Given the description of an element on the screen output the (x, y) to click on. 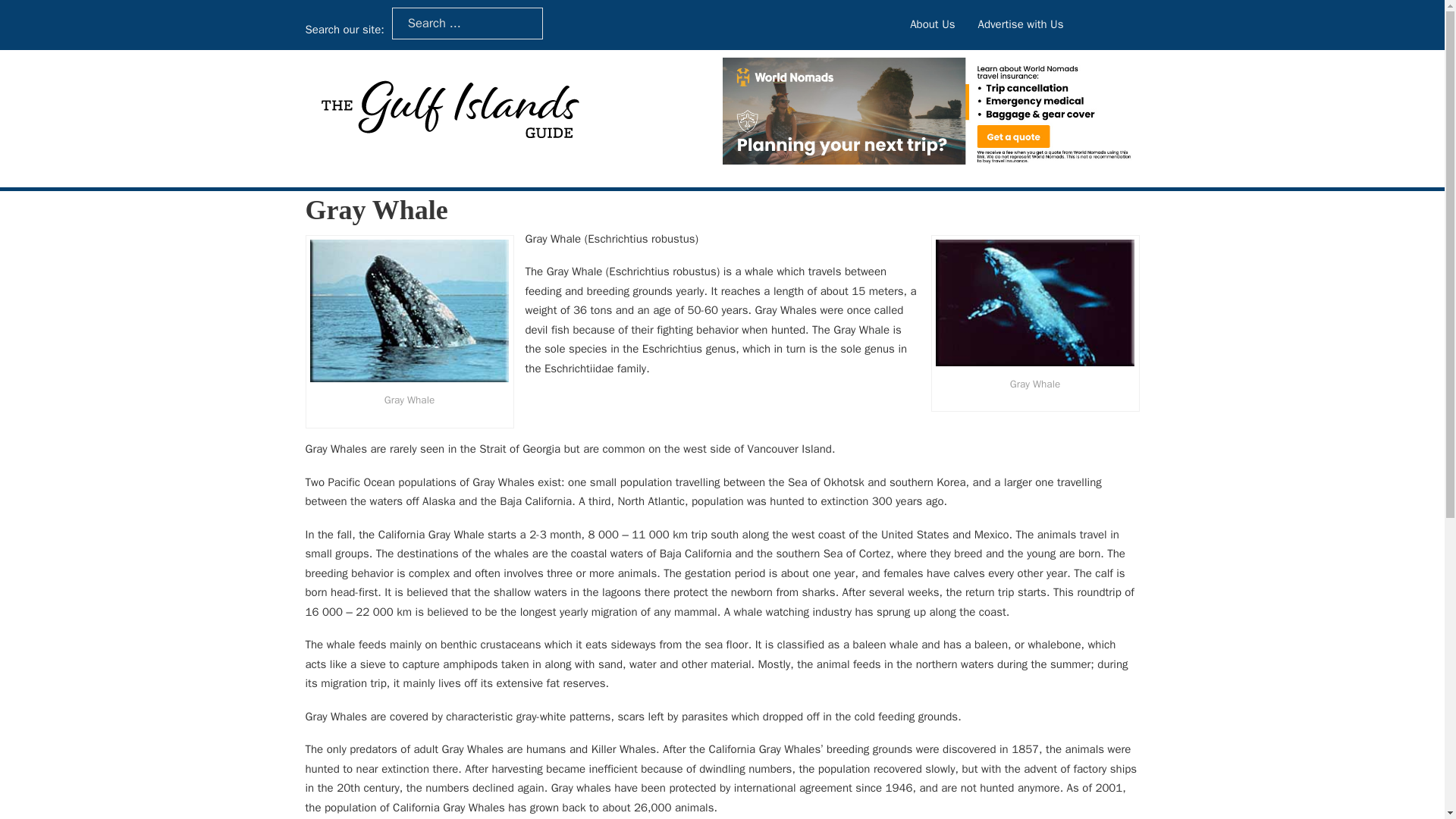
gray-whale (408, 310)
Advertise with Us (1021, 25)
About Us (932, 25)
